Given the description of an element on the screen output the (x, y) to click on. 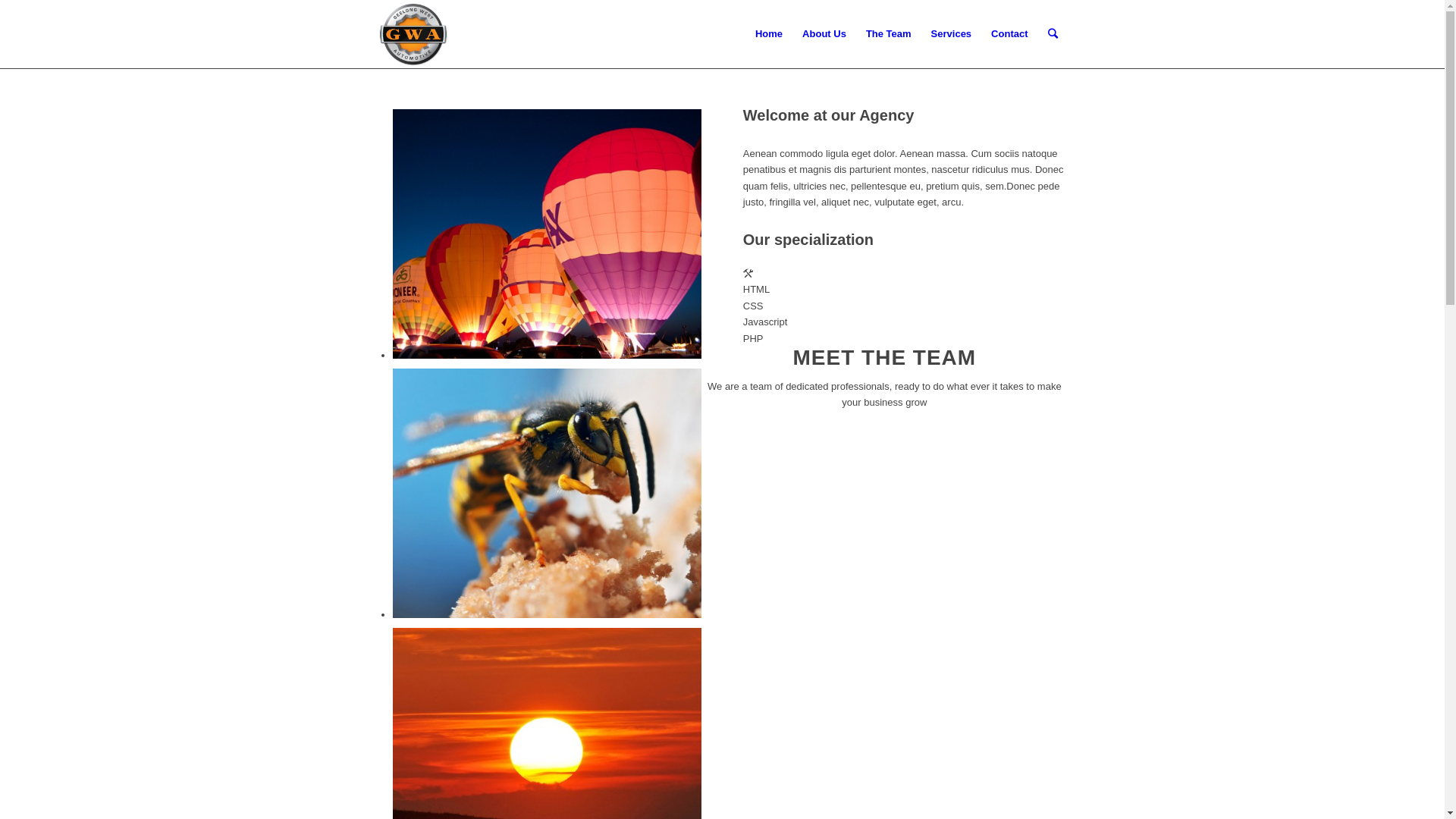
Services Element type: text (951, 34)
Contact Element type: text (1009, 34)
014 Element type: hover (547, 493)
Home Element type: text (768, 34)
2 Element type: hover (547, 233)
About Us Element type: text (824, 34)
The Team Element type: text (888, 34)
